Given the description of an element on the screen output the (x, y) to click on. 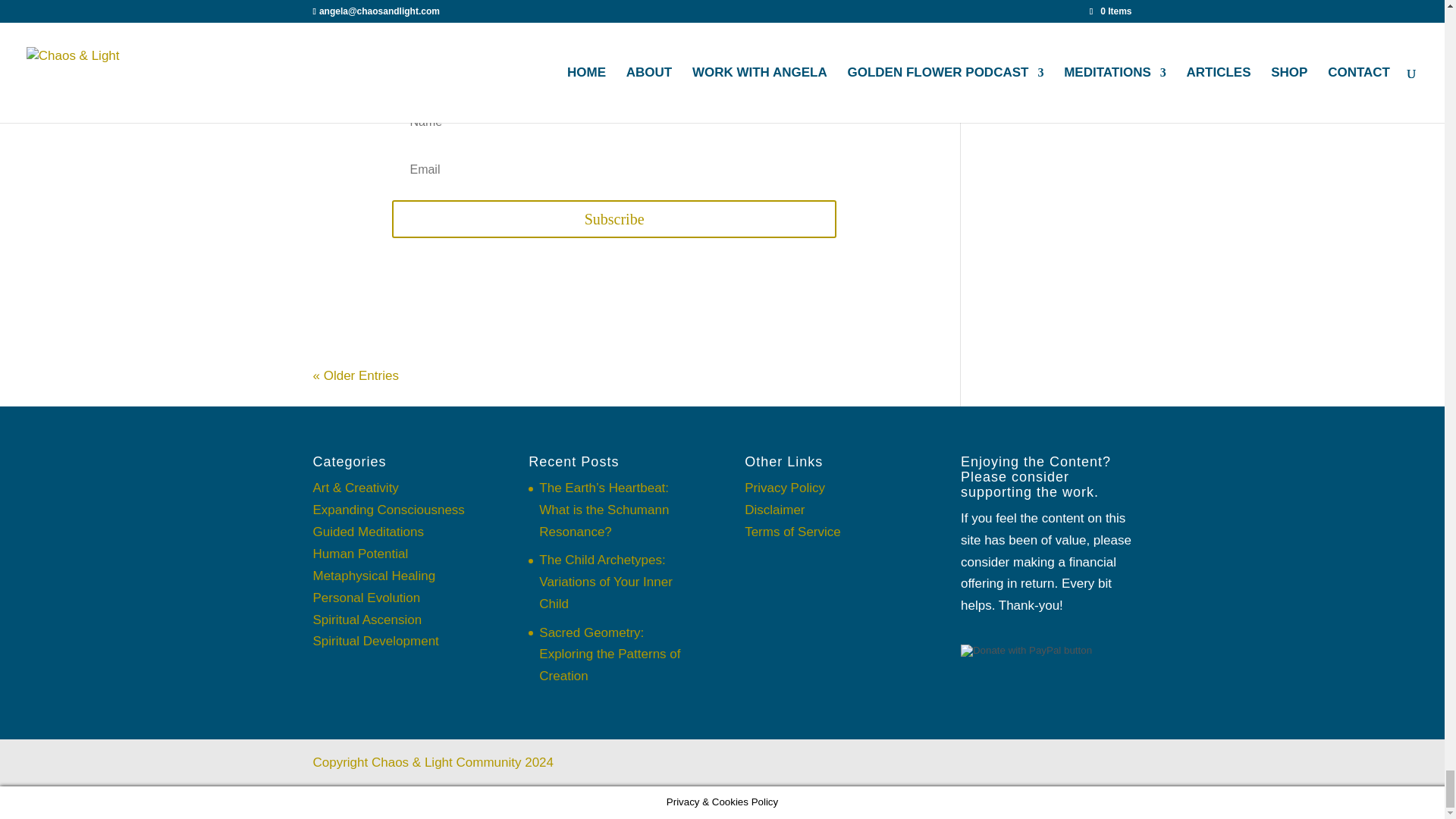
PayPal - The safer, easier way to pay online! (1026, 650)
